Given the description of an element on the screen output the (x, y) to click on. 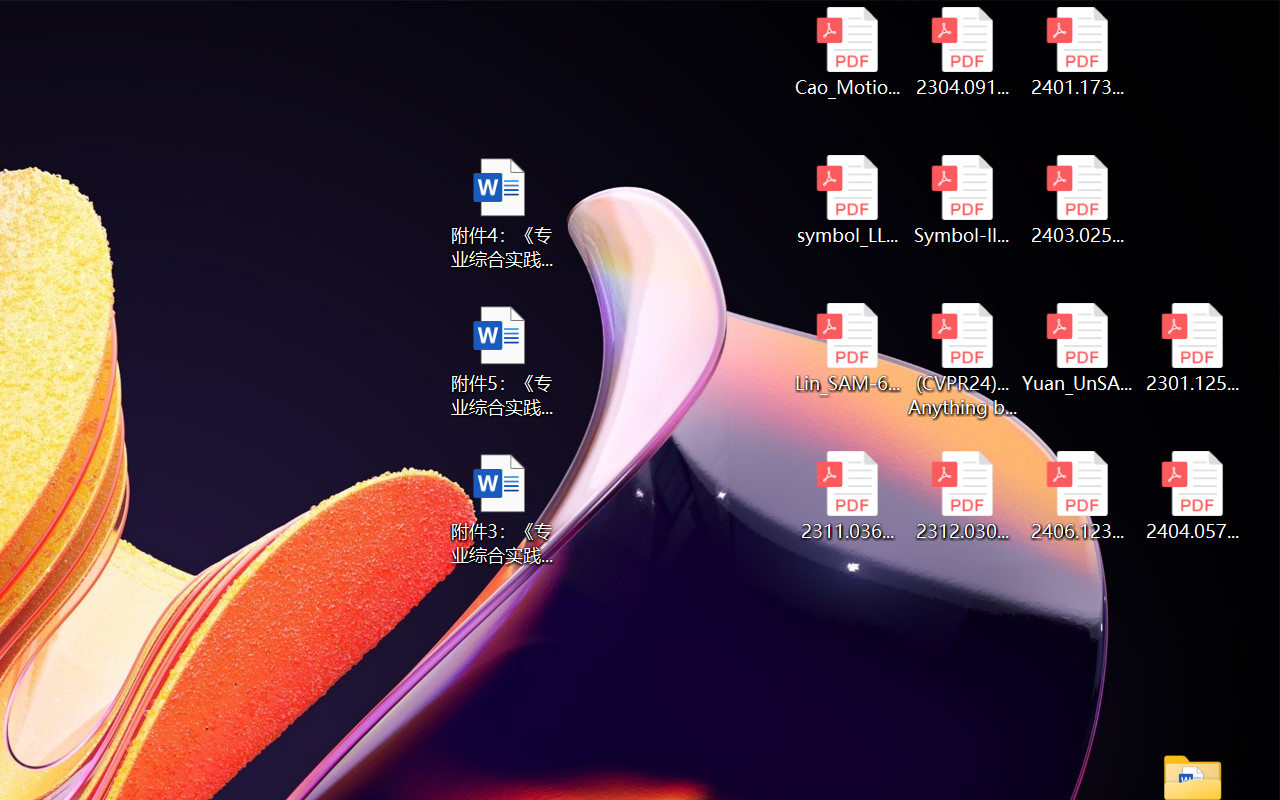
2312.03032v2.pdf (962, 496)
